Given the description of an element on the screen output the (x, y) to click on. 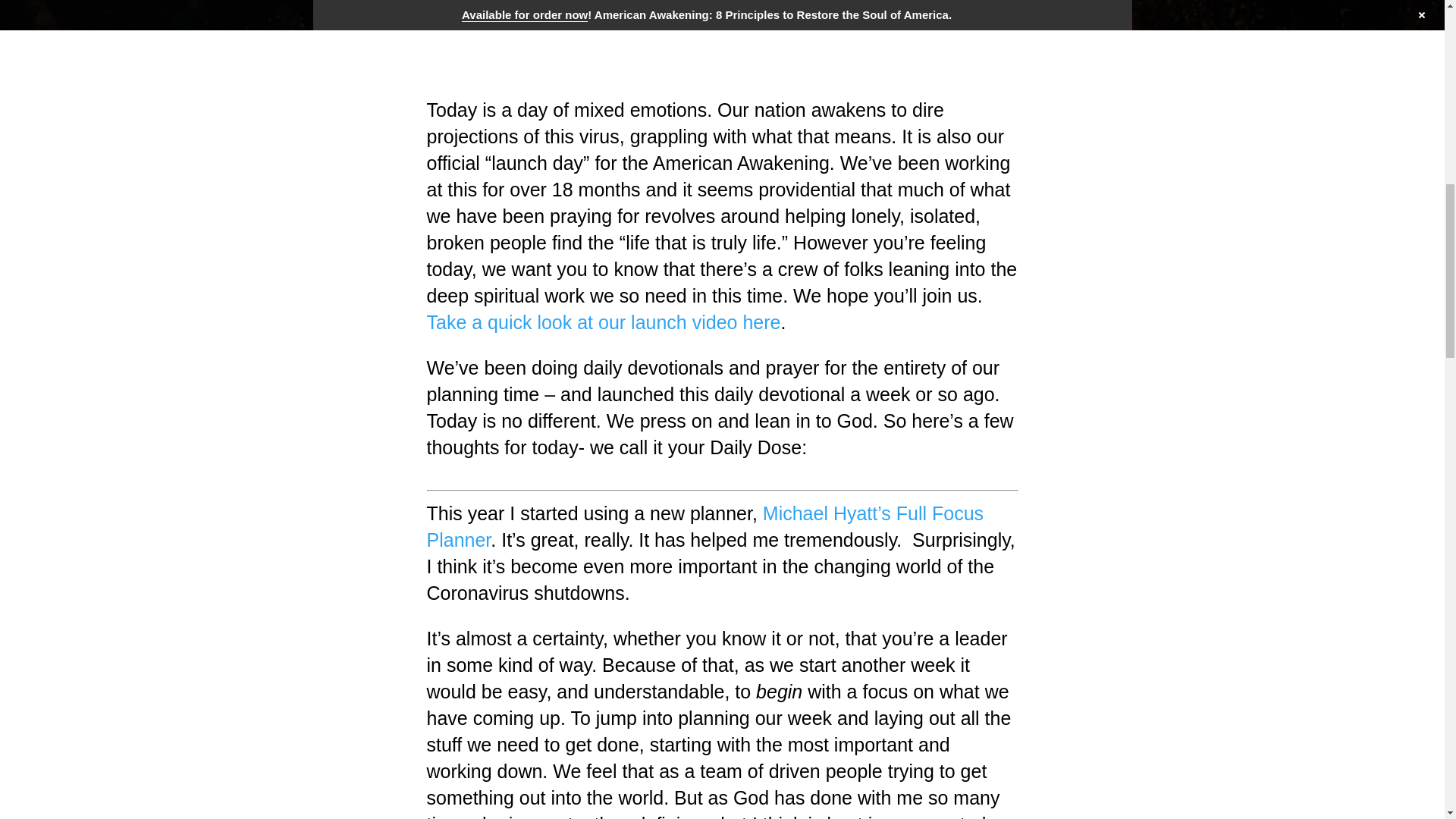
Take a quick look at our launch video here (603, 322)
